Given the description of an element on the screen output the (x, y) to click on. 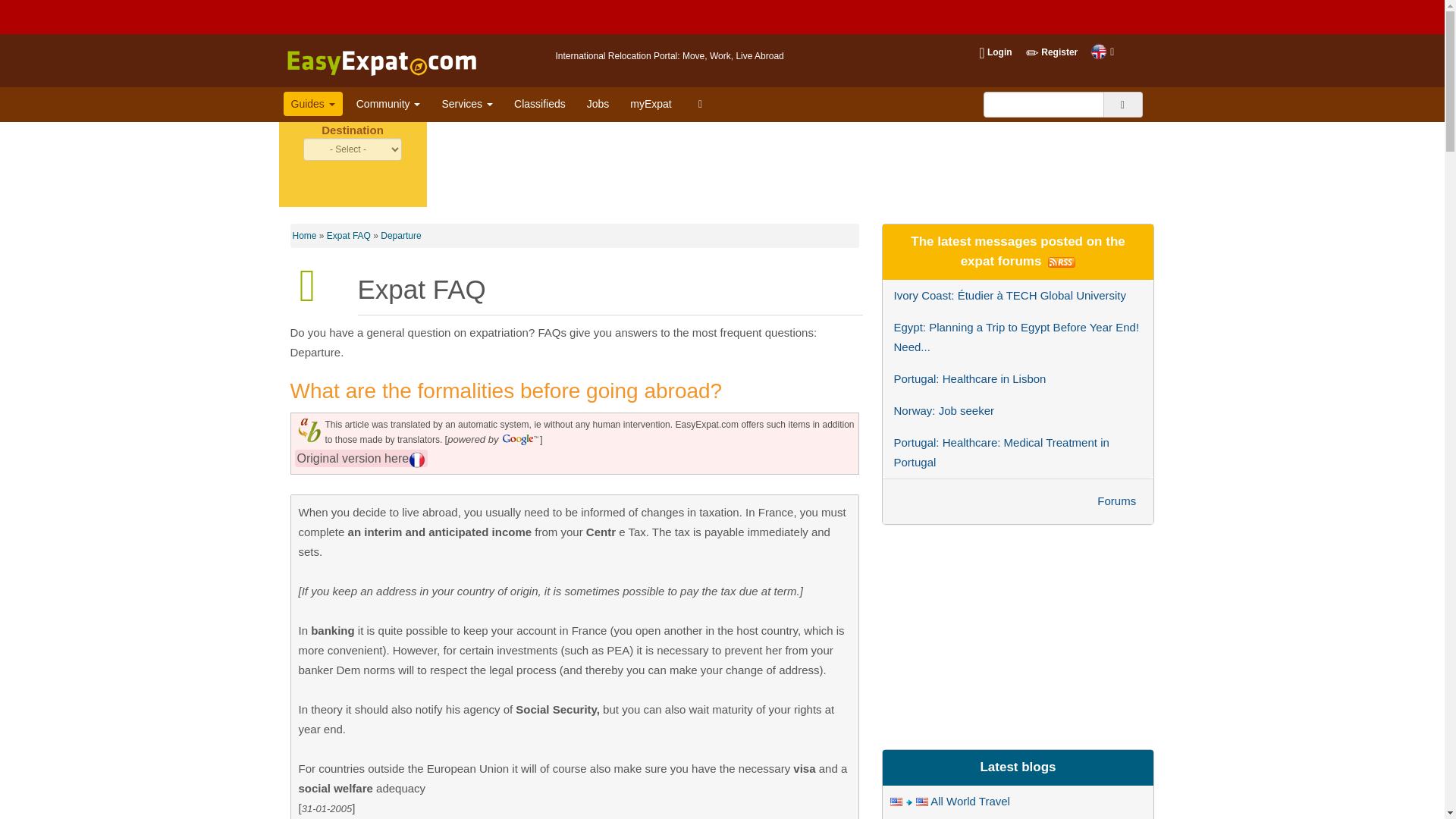
 Login (991, 51)
3rd party ad content (722, 17)
 Register (1047, 51)
